Given the description of an element on the screen output the (x, y) to click on. 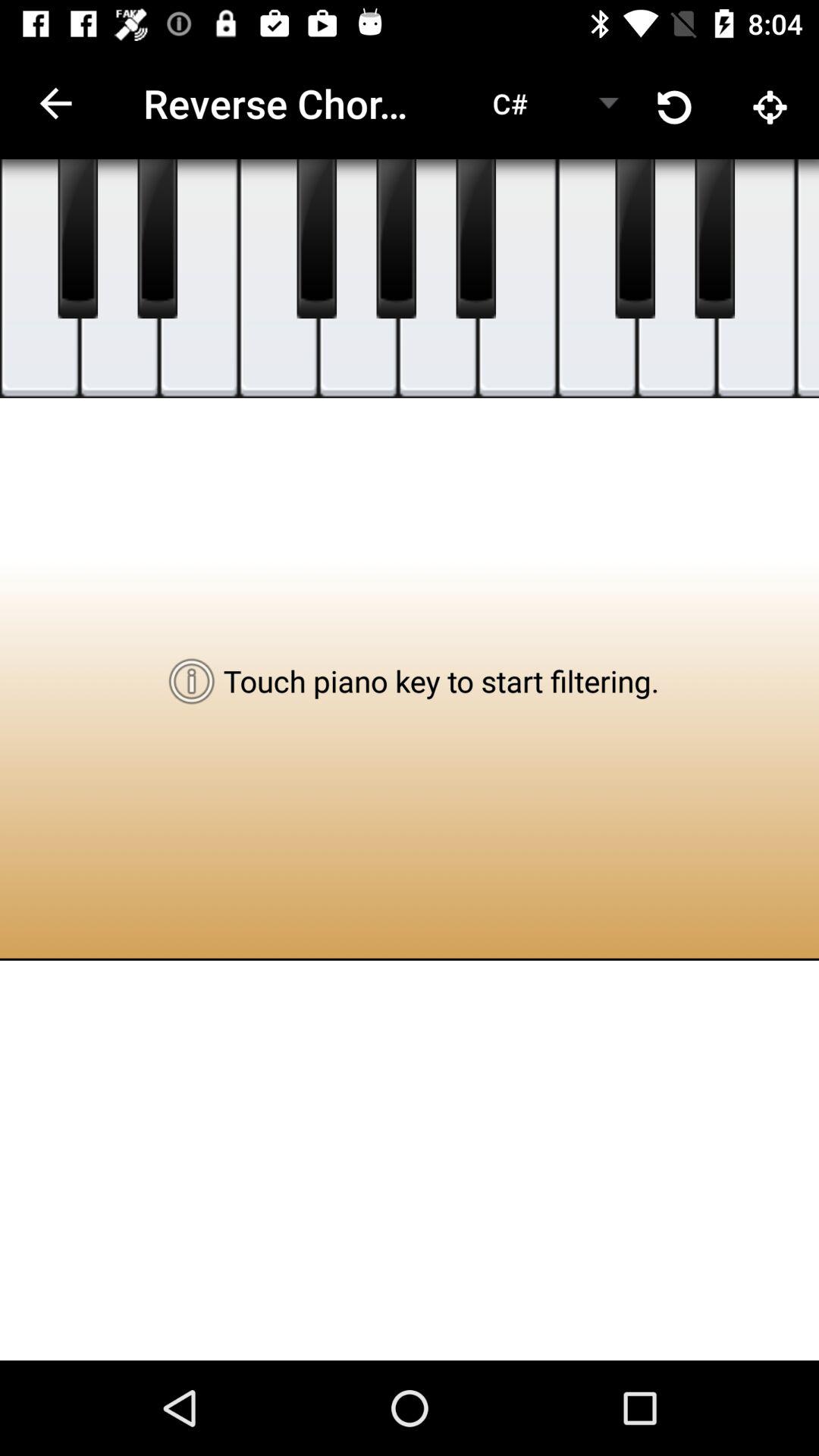
shows piano key button (39, 278)
